Given the description of an element on the screen output the (x, y) to click on. 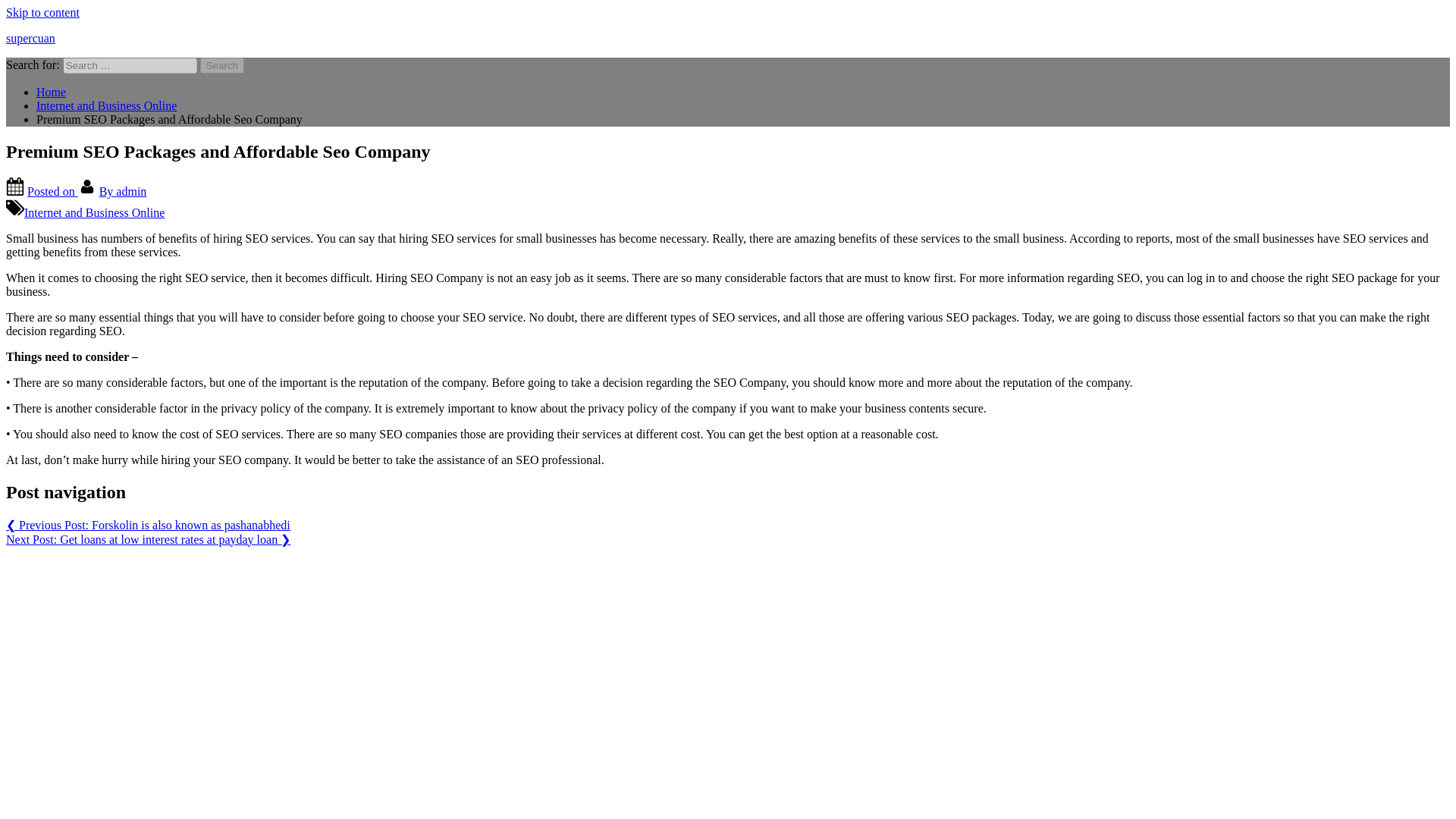
Skip to content (42, 11)
Posted on (52, 191)
Internet and Business Online (94, 212)
Internet and Business Online (106, 105)
By admin (123, 191)
Home (50, 91)
Search (222, 65)
Search (222, 65)
Search (222, 65)
supercuan (30, 38)
